Given the description of an element on the screen output the (x, y) to click on. 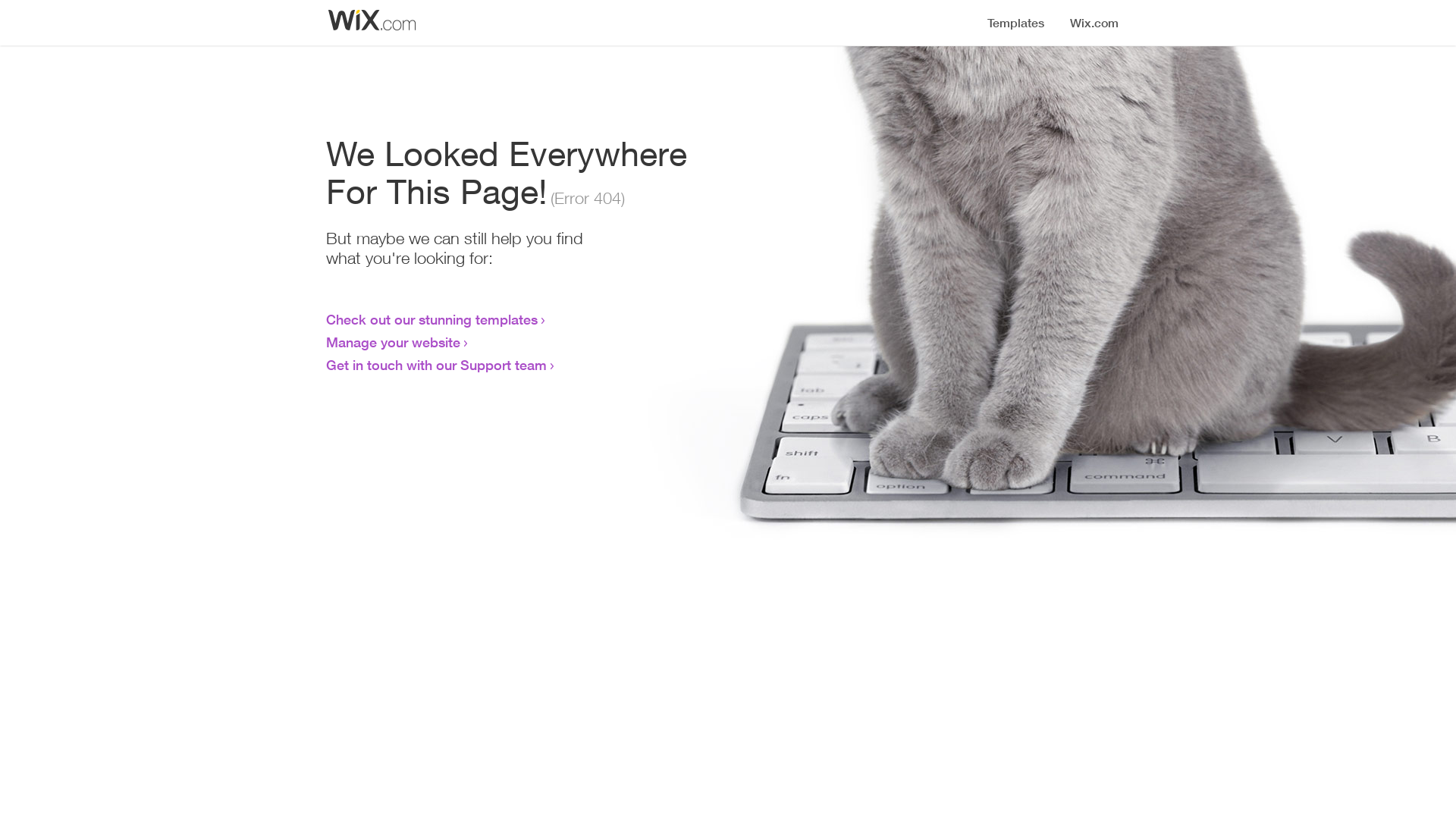
Check out our stunning templates Element type: text (431, 318)
Get in touch with our Support team Element type: text (436, 364)
Manage your website Element type: text (393, 341)
